Given the description of an element on the screen output the (x, y) to click on. 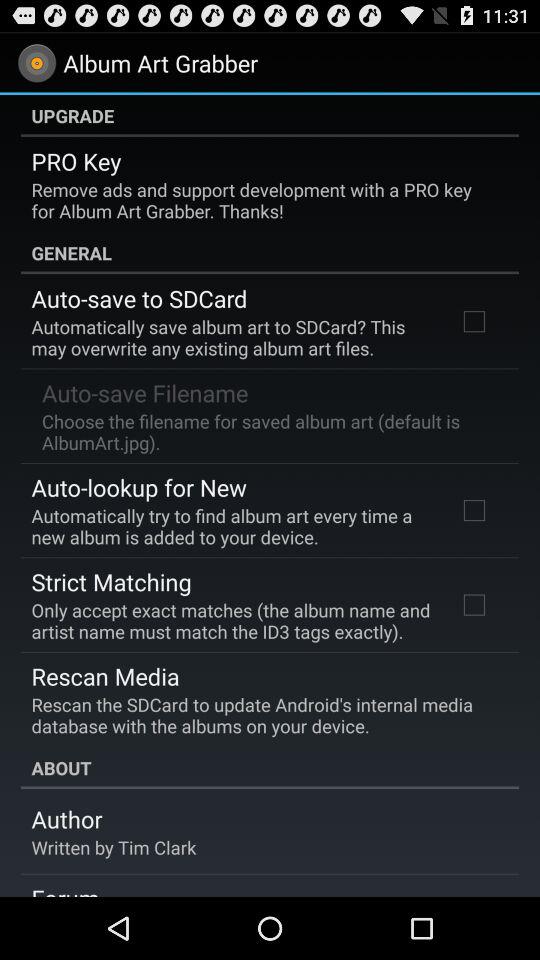
press the app below rescan media item (263, 715)
